Given the description of an element on the screen output the (x, y) to click on. 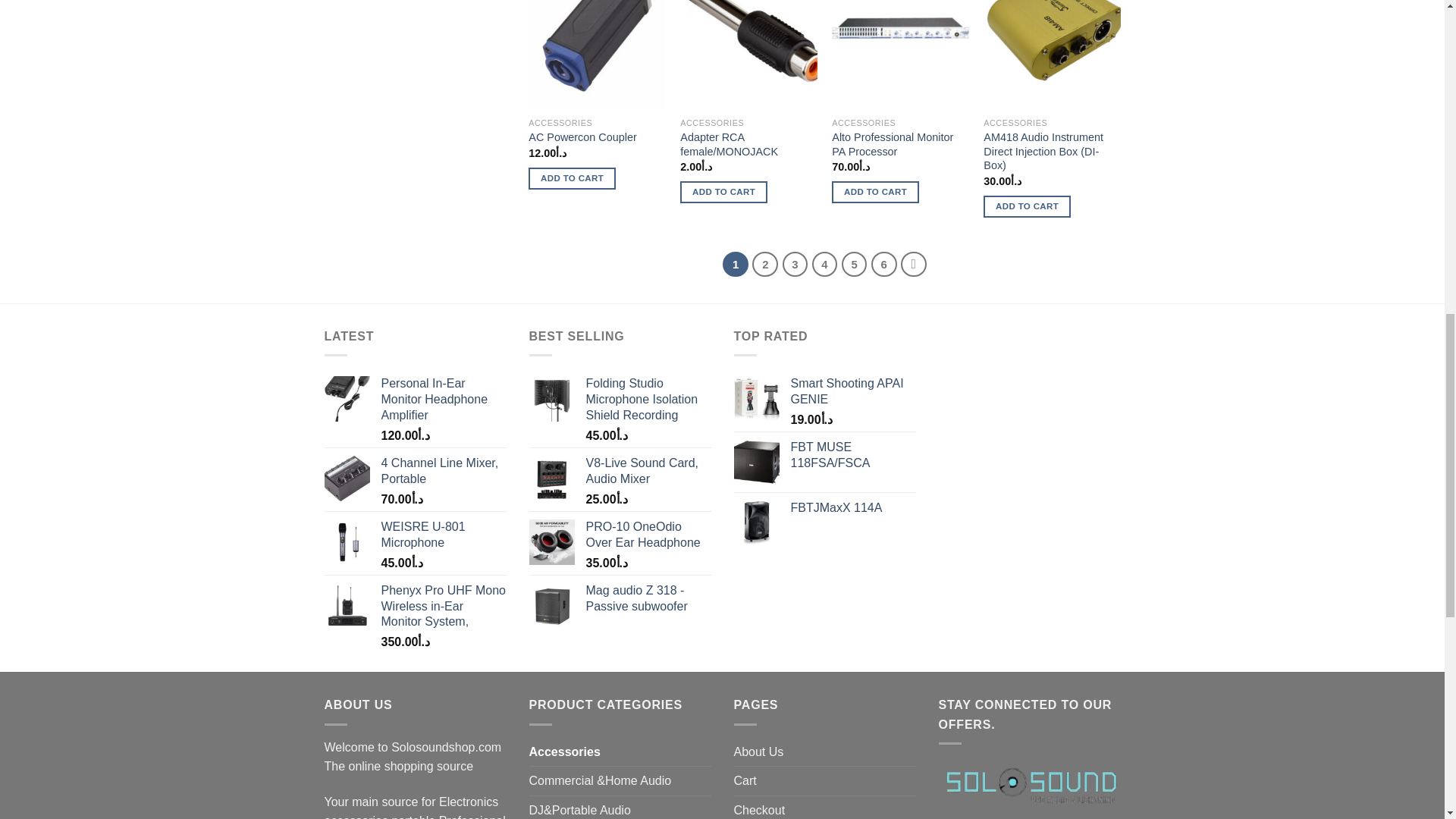
Stay connected to our offers. (1030, 783)
